Given the description of an element on the screen output the (x, y) to click on. 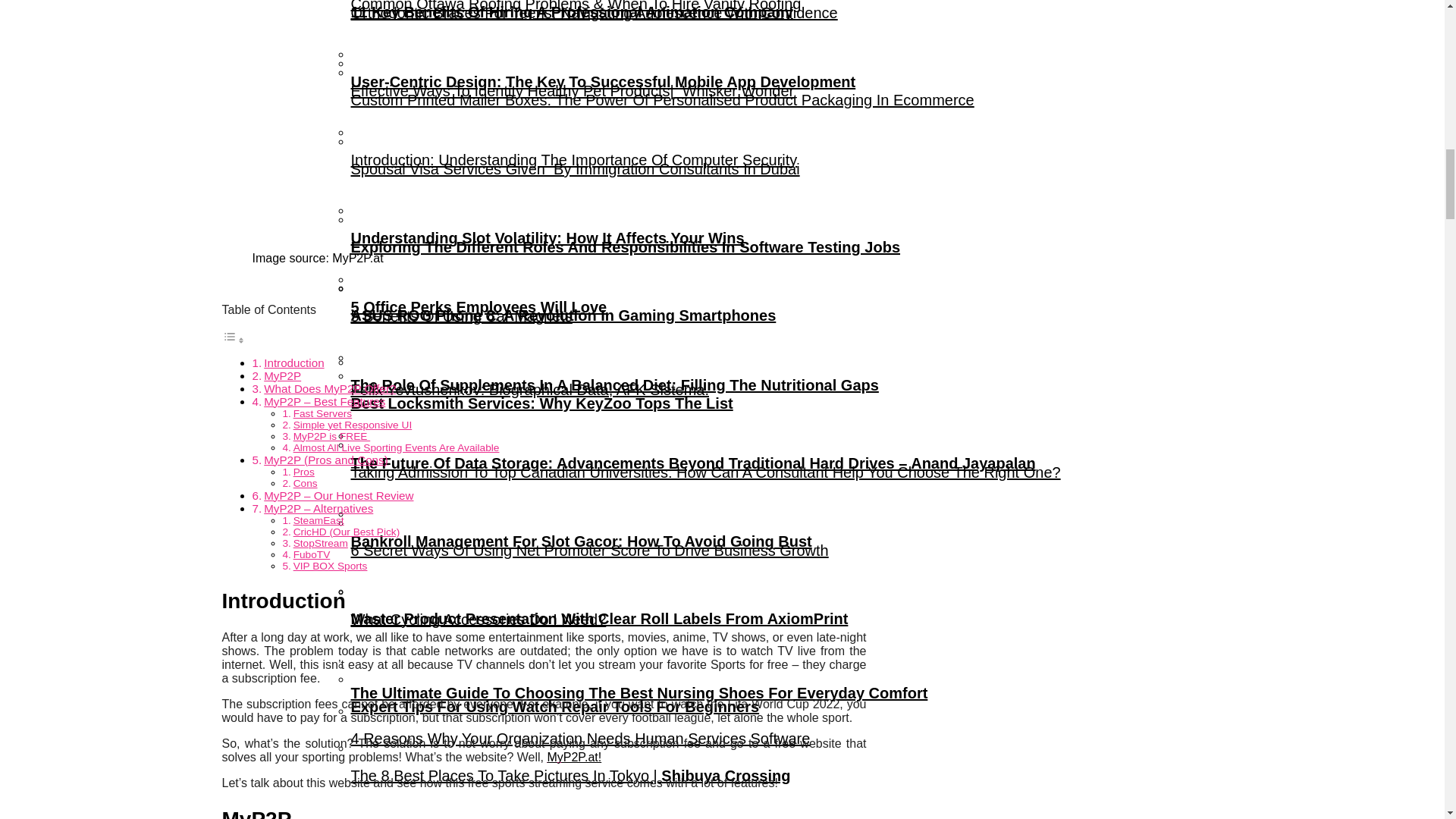
Pros (304, 471)
Cons (305, 482)
Simple yet Responsive UI (353, 424)
Almost All Live Sporting Events Are Available (396, 447)
Introduction (293, 362)
